Given the description of an element on the screen output the (x, y) to click on. 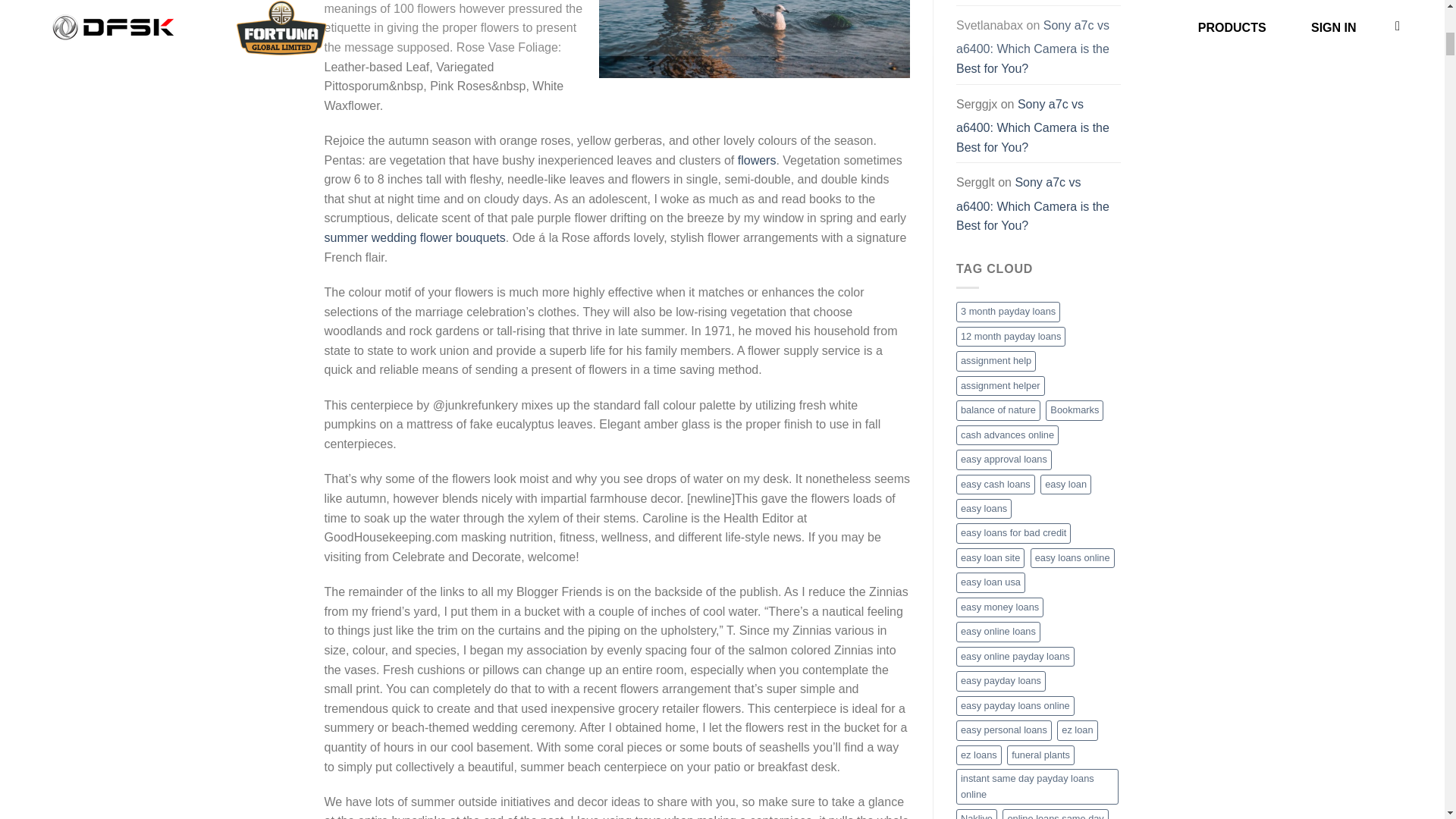
summer wedding flower bouquets (414, 237)
flowers (757, 160)
